Given the description of an element on the screen output the (x, y) to click on. 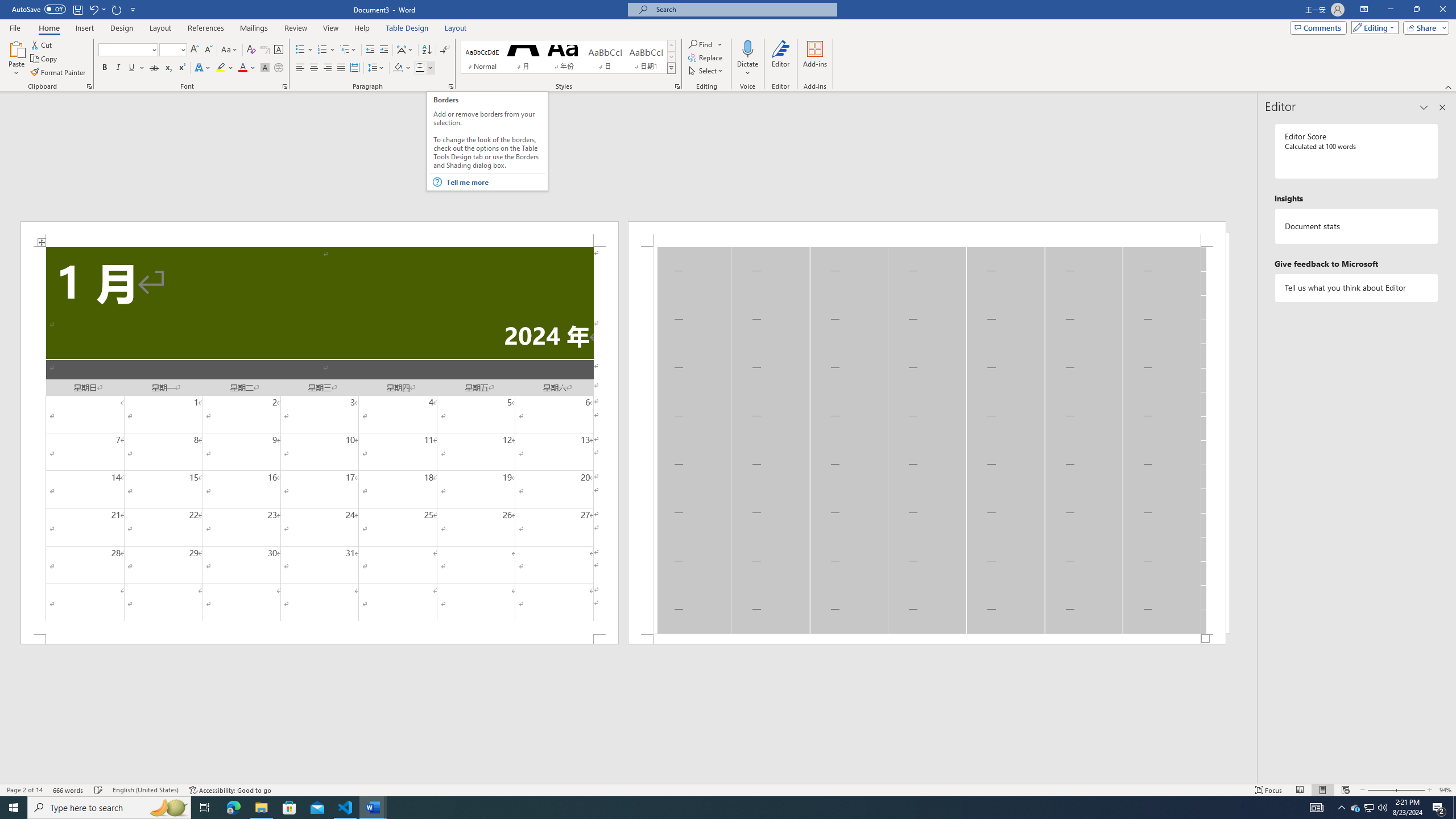
Footer -Section 1- (926, 638)
Replace... (705, 56)
Asian Layout (405, 49)
Tell me more (495, 181)
Spelling and Grammar Check Checking (98, 790)
Undo Apply Quick Style (96, 9)
Cut (42, 44)
Enclose Characters... (278, 67)
AutomationID: QuickStylesGallery (568, 56)
Class: MsoCommandBar (728, 789)
